Given the description of an element on the screen output the (x, y) to click on. 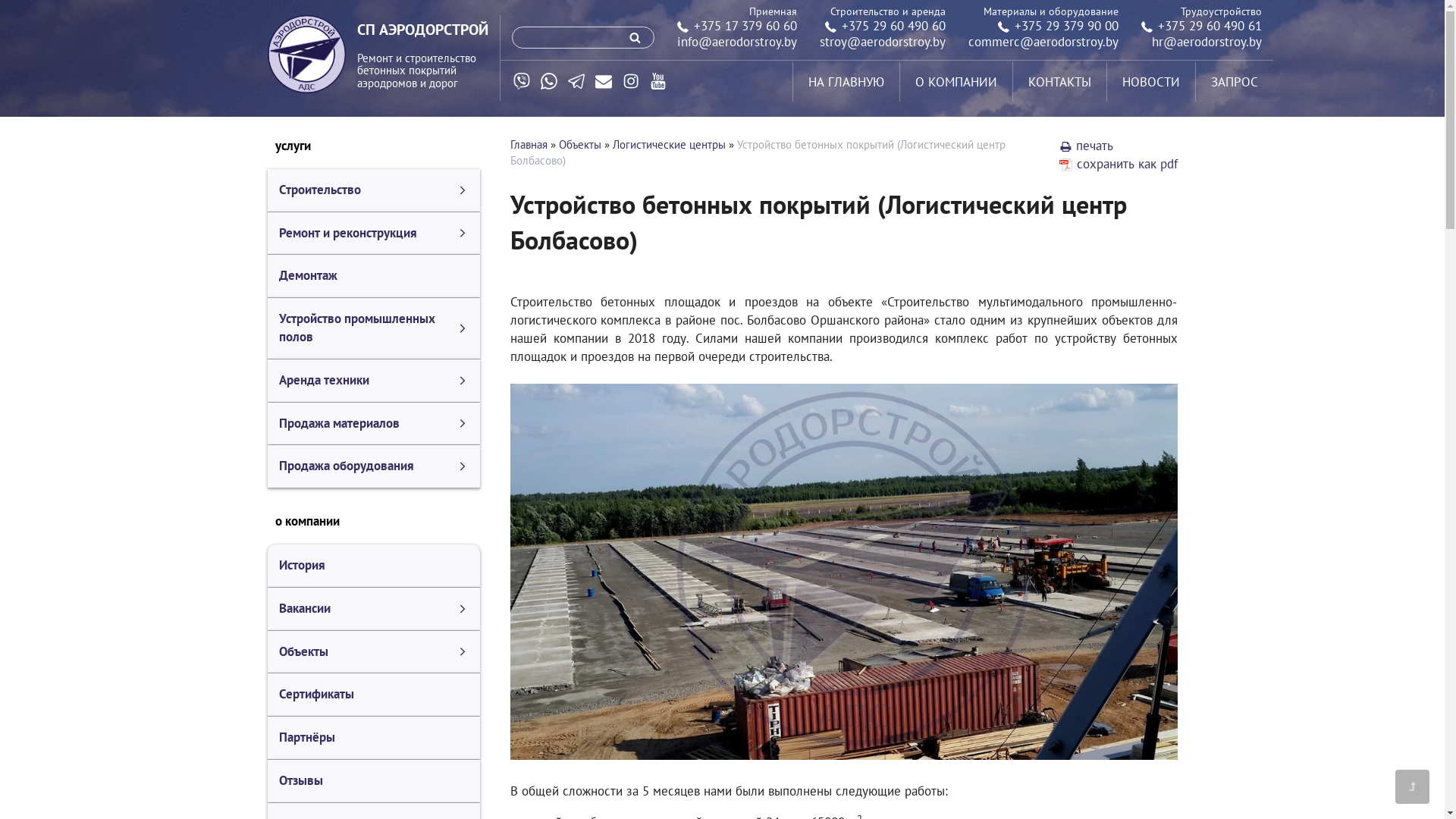
info@aerodorstroy.by Element type: text (736, 41)
+375 17 379 60 60 Element type: text (736, 25)
hr@aerodorstroy.by Element type: text (1206, 41)
+375 29 60 490 60 Element type: text (885, 25)
commerc@aerodorstroy.by Element type: text (1042, 41)
+375 29 60 490 61 Element type: text (1200, 25)
+375 29 379 90 00 Element type: text (1057, 25)
stroy@aerodorstroy.by Element type: text (881, 41)
